Given the description of an element on the screen output the (x, y) to click on. 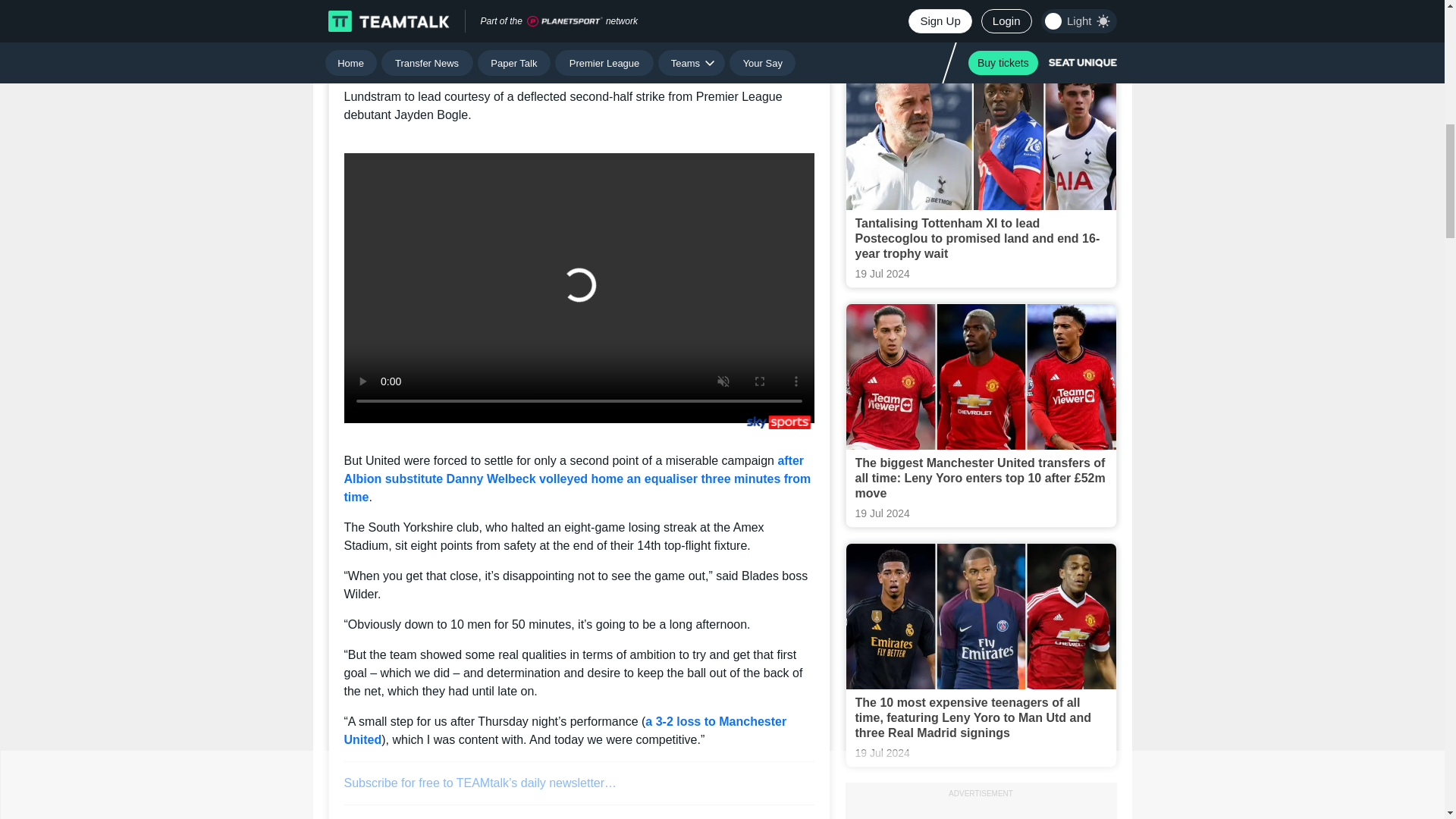
3rd party ad content (980, 811)
